Given the description of an element on the screen output the (x, y) to click on. 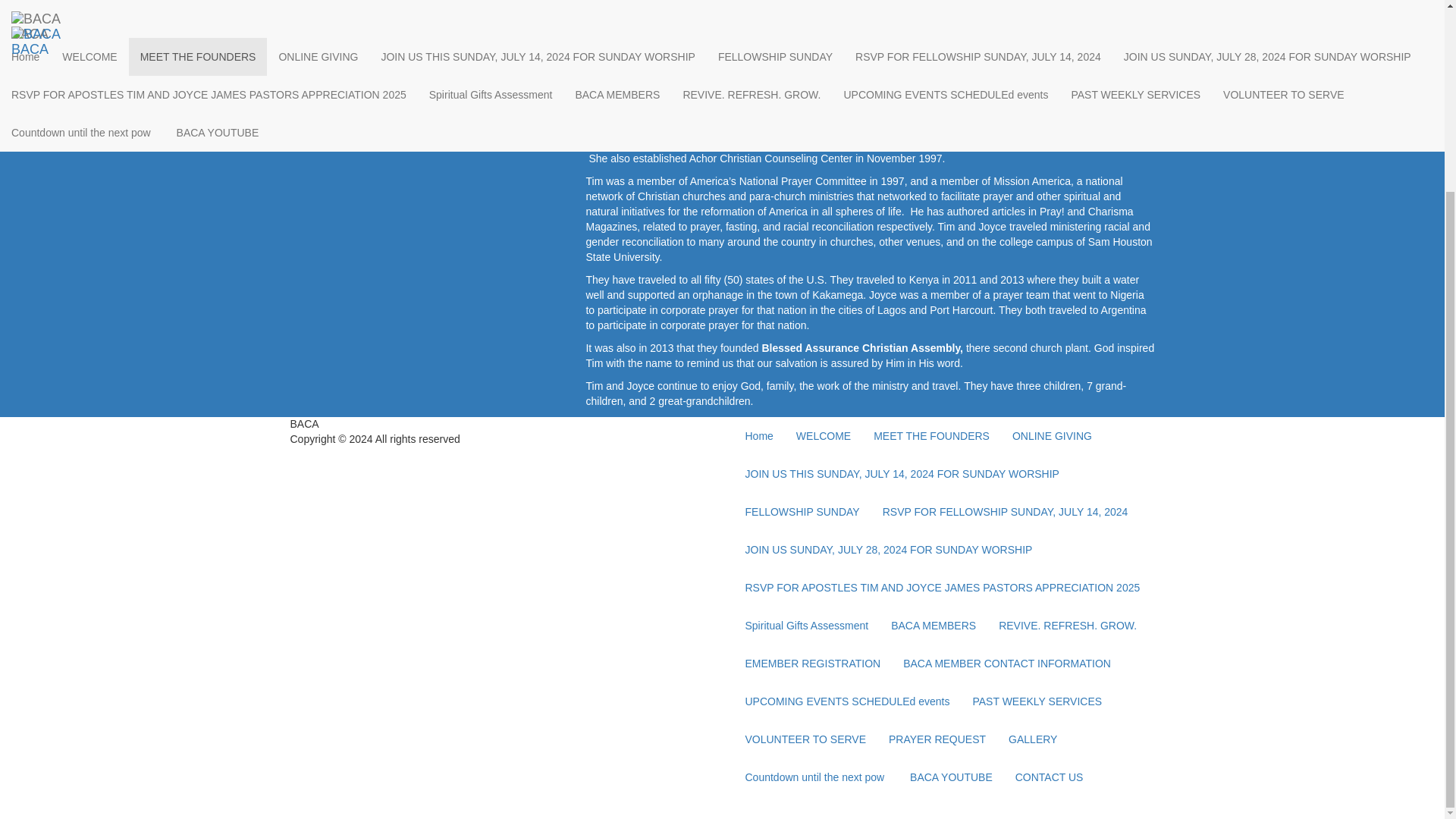
Home (758, 435)
